Given the description of an element on the screen output the (x, y) to click on. 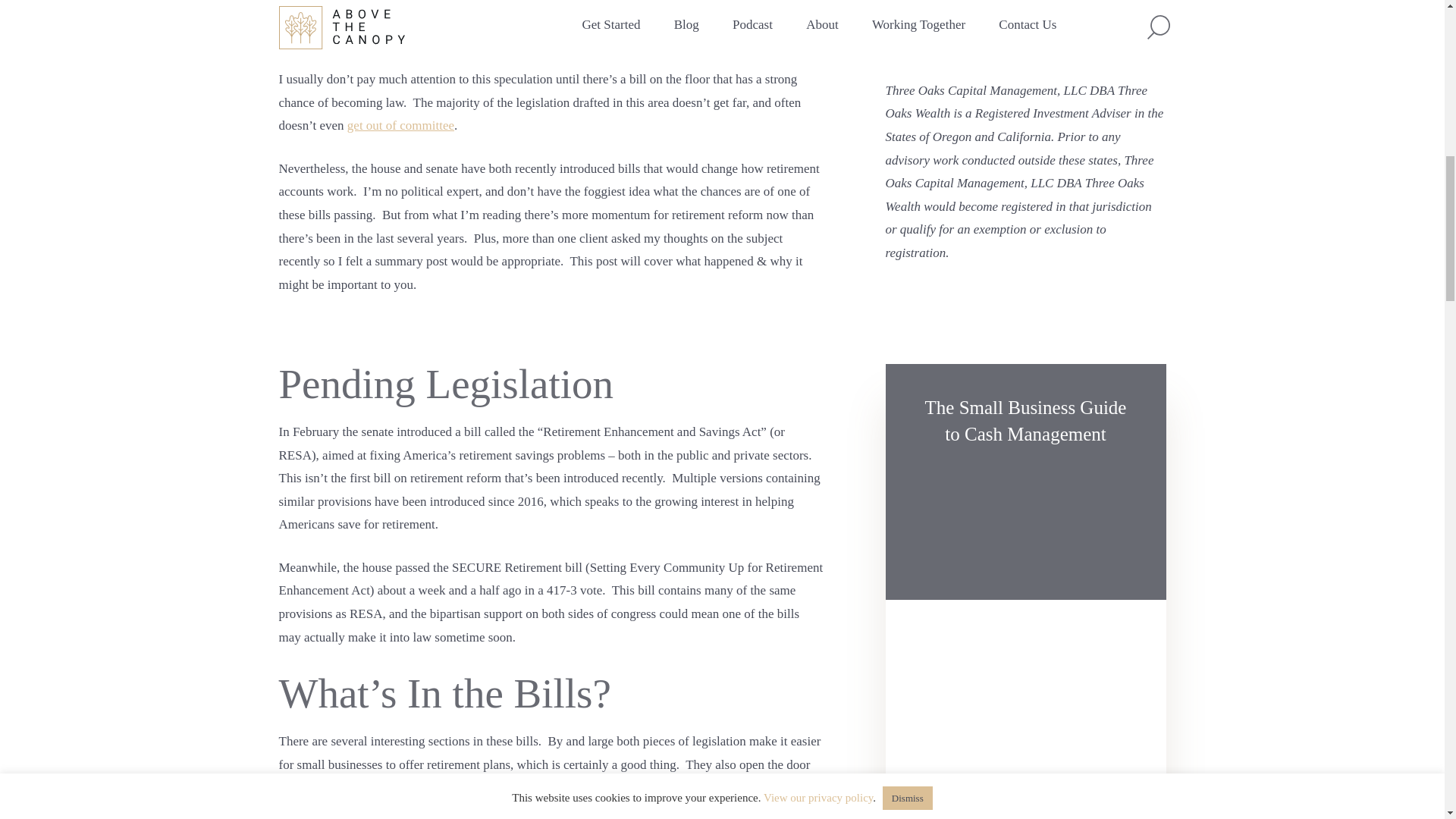
Google (1024, 2)
get out of committee (400, 124)
DOWNLOAD NOW (1006, 798)
